Given the description of an element on the screen output the (x, y) to click on. 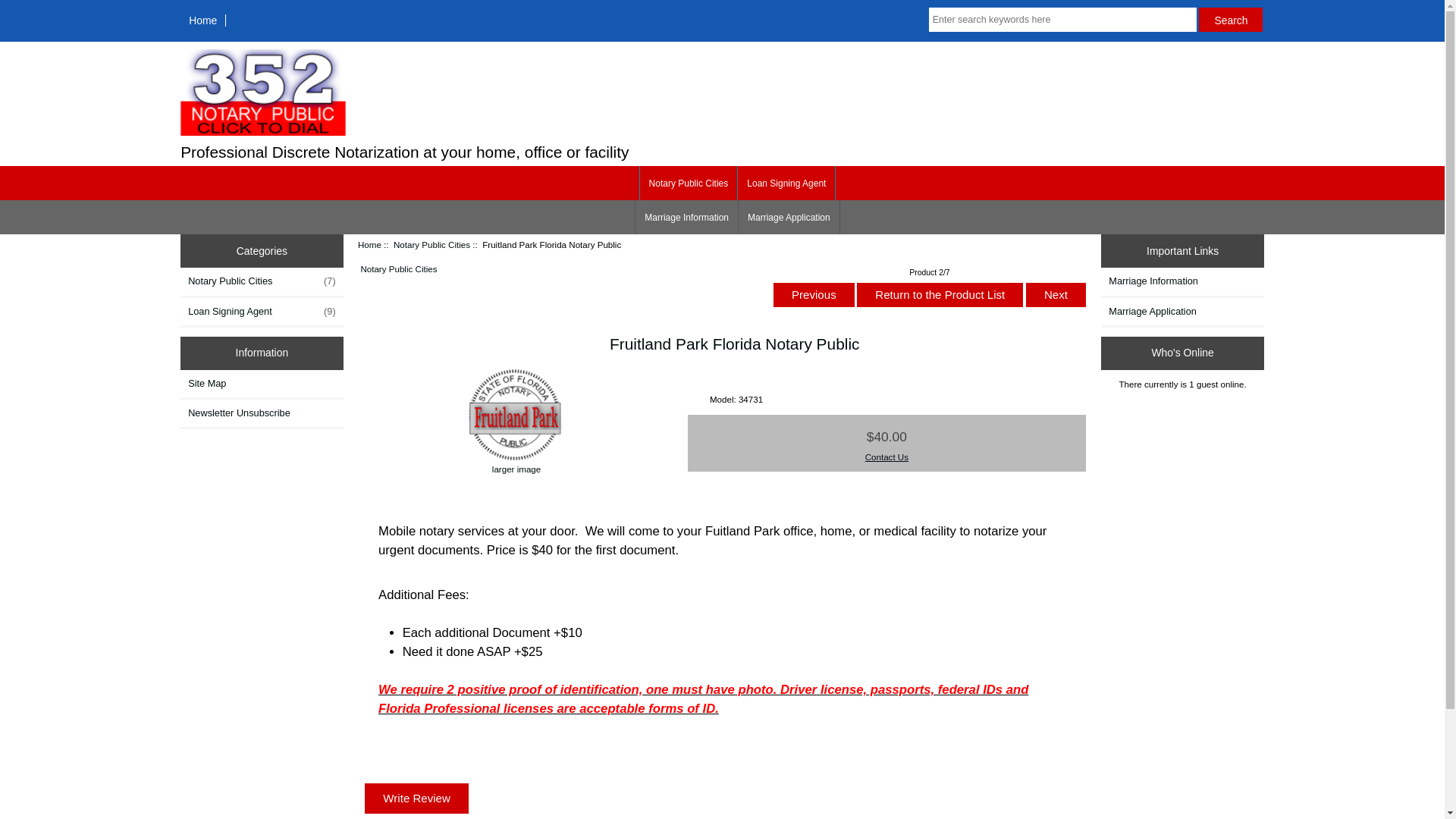
Newsletter Unsubscribe Element type: text (261, 412)
Marriage Information Element type: text (1182, 280)
larger image Element type: text (516, 462)
 Return to the Product List  Element type: text (939, 295)
Marriage Application Element type: text (788, 217)
Contact Us Element type: text (886, 456)
Notary Public Cities Element type: text (431, 244)
Notary Public Cities
 (7) Element type: text (261, 280)
 Fruitland Park Florida Notary Public  Element type: hover (516, 414)
Home Element type: text (369, 244)
 Previous  Element type: text (813, 295)
Notary Public Cities Element type: text (398, 268)
Notary Public Cities Element type: text (688, 183)
Loan Signing Agent Element type: text (785, 183)
Marriage Information Element type: text (686, 217)
Site Map Element type: text (261, 383)
Call Now Element type: hover (262, 132)
 Write Review  Element type: text (416, 798)
Marriage Application Element type: text (1182, 311)
Loan Signing Agent
 (9) Element type: text (261, 311)
 Next  Element type: text (1055, 295)
Search Element type: text (1230, 19)
Home Element type: text (202, 20)
